Given the description of an element on the screen output the (x, y) to click on. 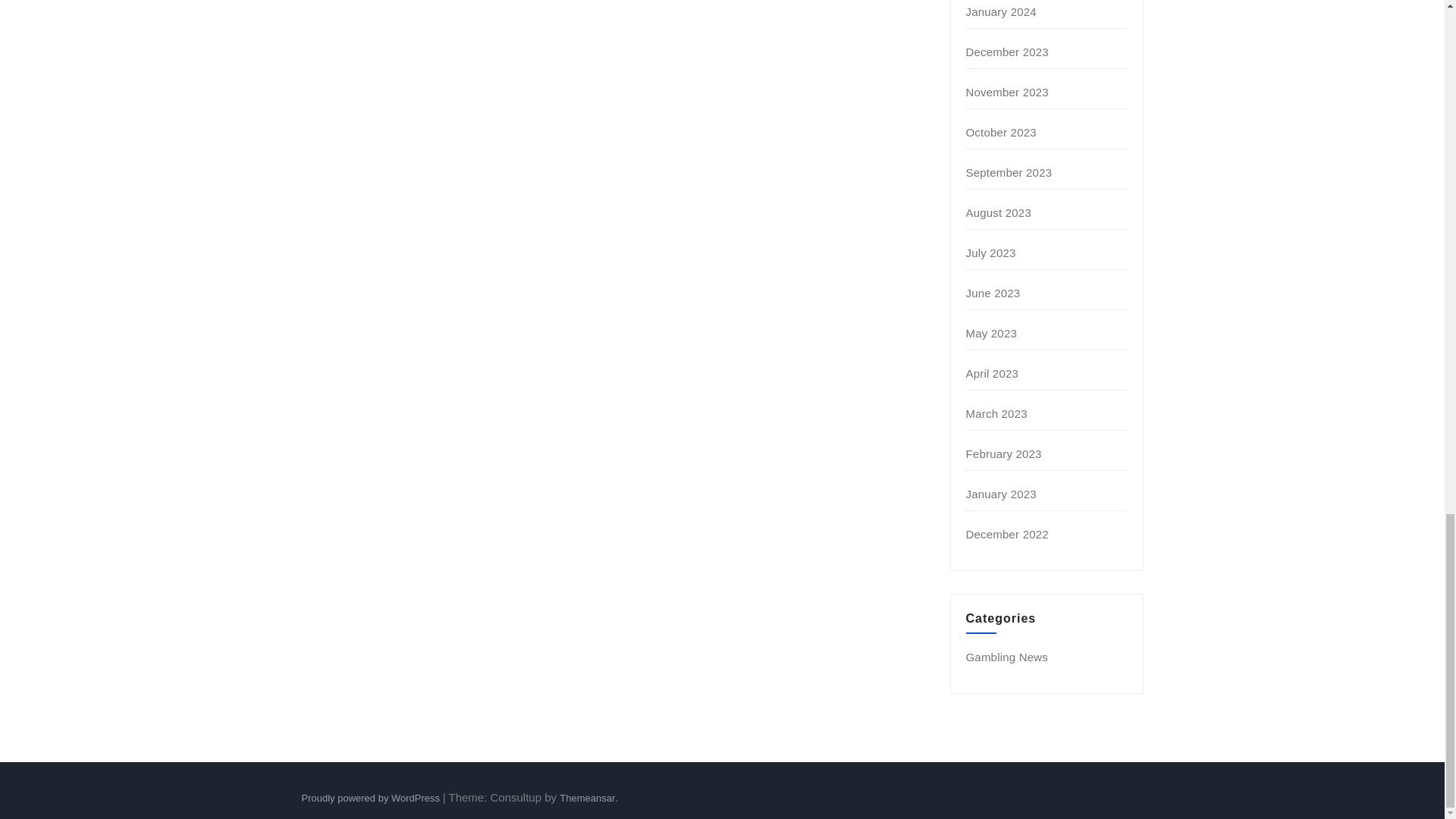
February 2023 (1004, 453)
Gambling News (1007, 656)
Themeansar (586, 797)
June 2023 (993, 292)
December 2023 (1007, 51)
March 2023 (996, 413)
September 2023 (1009, 172)
May 2023 (991, 332)
August 2023 (998, 212)
January 2023 (1001, 493)
